Given the description of an element on the screen output the (x, y) to click on. 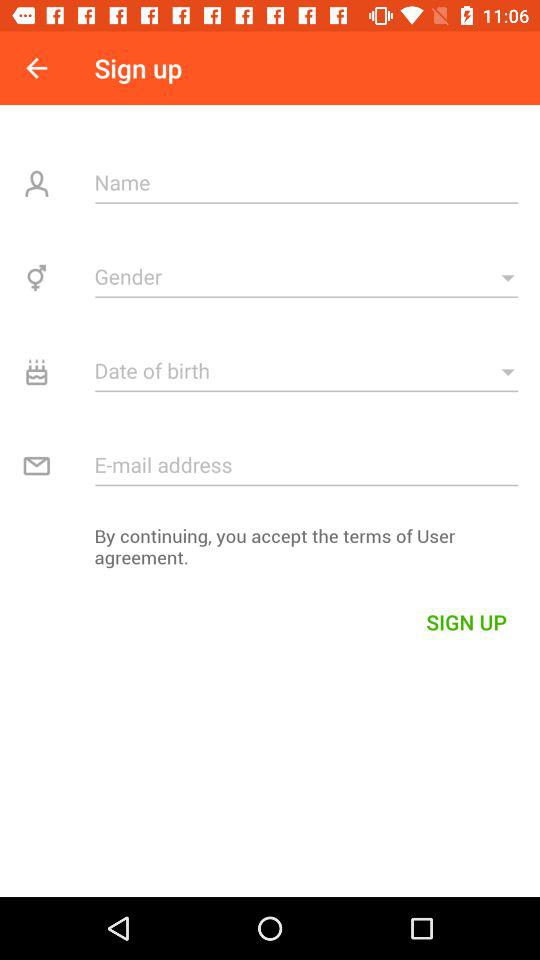
swipe until by continuing you (270, 551)
